Given the description of an element on the screen output the (x, y) to click on. 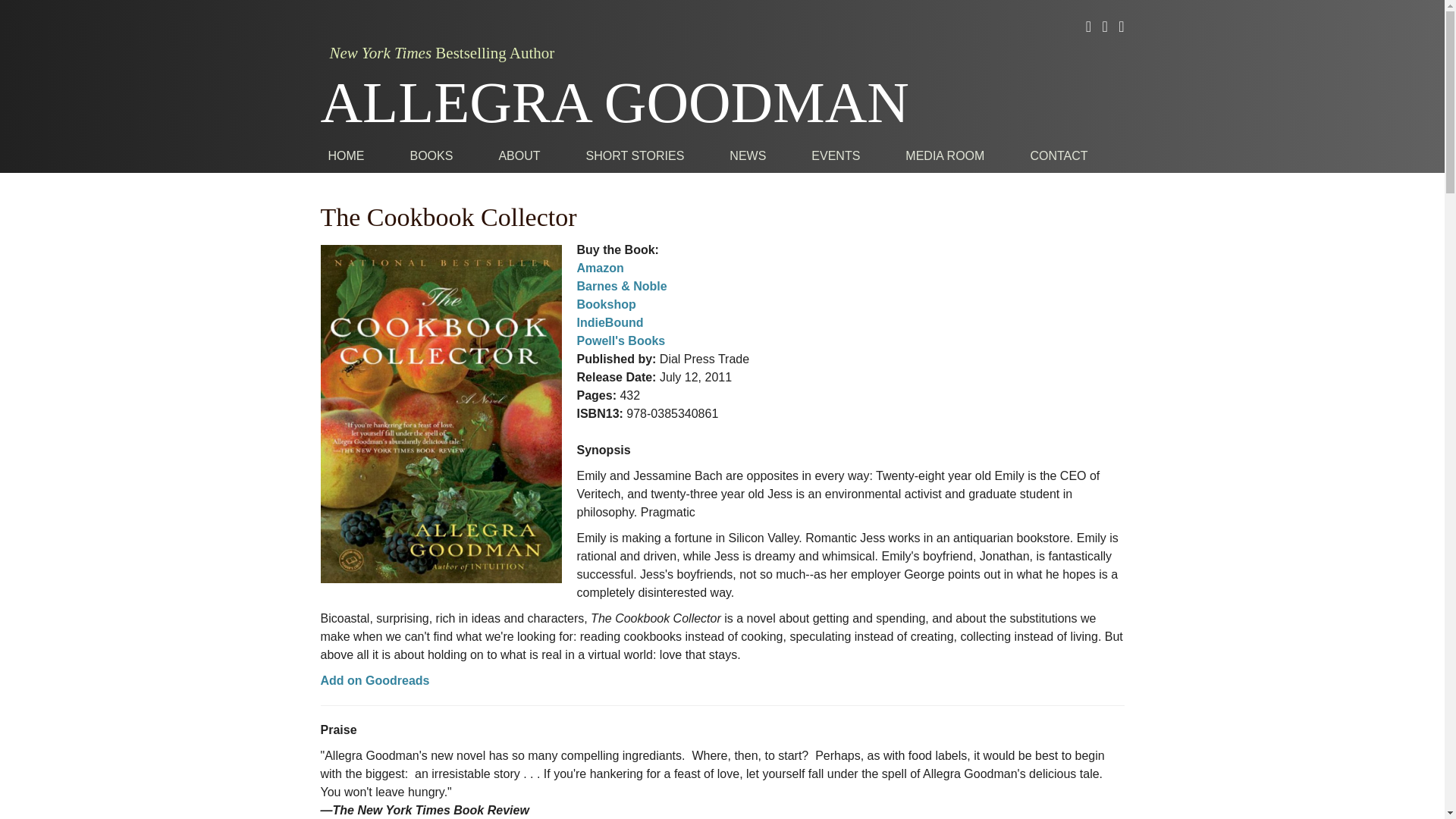
MEDIA ROOM (944, 155)
SHORT STORIES (635, 155)
EVENTS (835, 155)
NEWS (747, 155)
IndieBound (609, 322)
Bookshop (605, 304)
Allegra Goodman (614, 102)
CONTACT (1058, 155)
ABOUT (519, 155)
Powell's Books (620, 340)
HOME (345, 155)
BOOKS (431, 155)
ALLEGRA GOODMAN (614, 102)
Add on Goodreads (374, 680)
Amazon (599, 267)
